Given the description of an element on the screen output the (x, y) to click on. 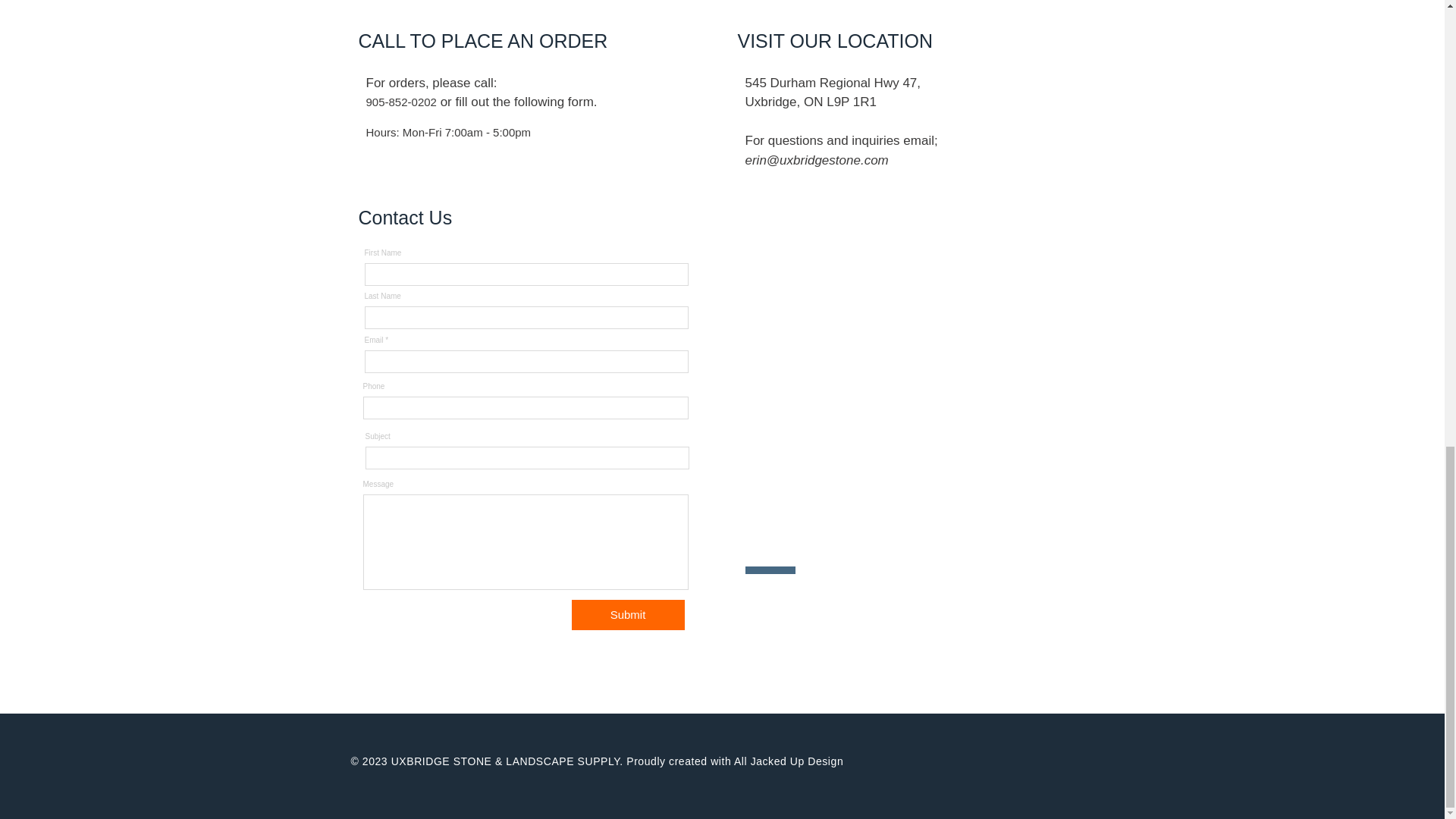
Submit (628, 614)
905-852-0202 (402, 101)
Hours: Mon-Fri 7:00am - 5:00pm  (449, 132)
All Jacked Up Design (788, 761)
